Given the description of an element on the screen output the (x, y) to click on. 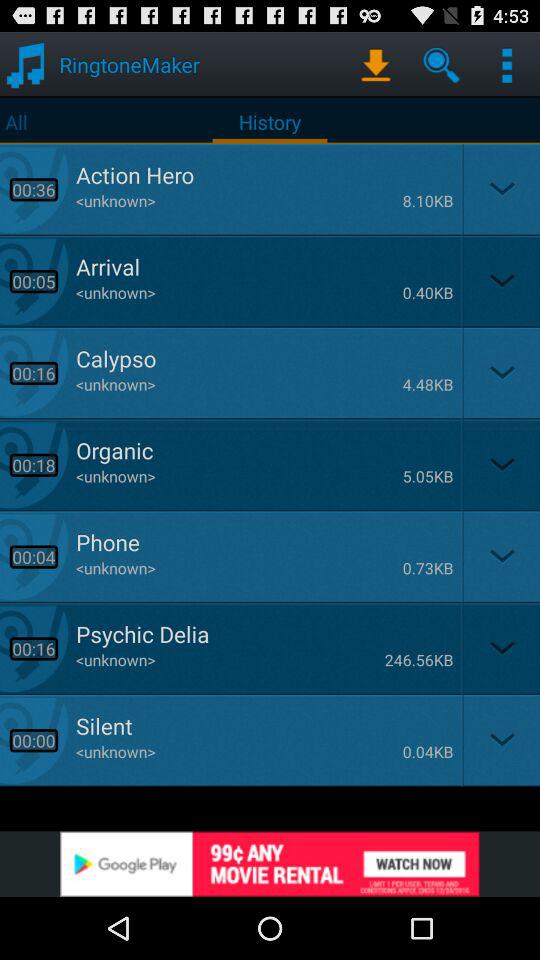
advertisement page (270, 864)
